Given the description of an element on the screen output the (x, y) to click on. 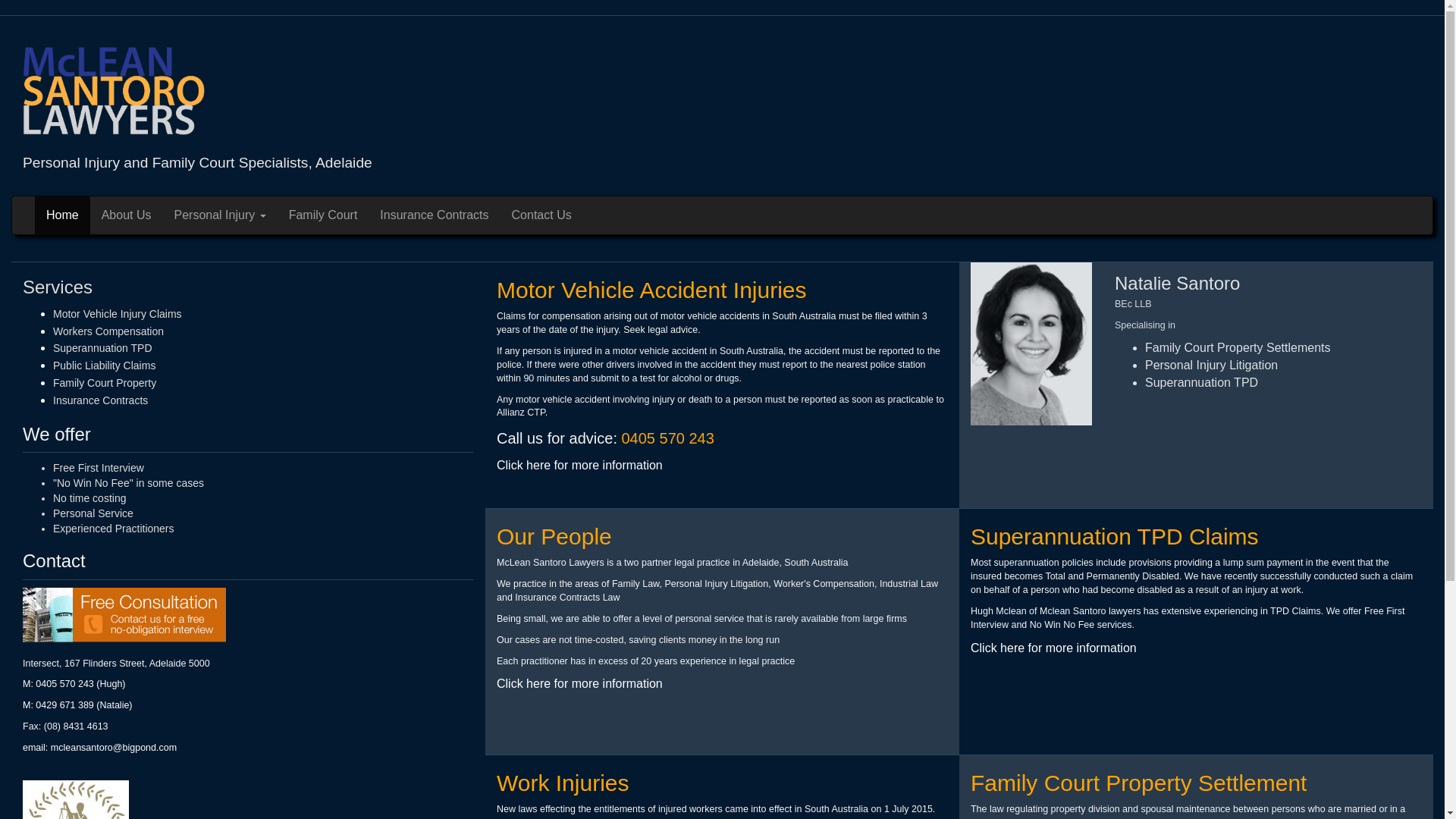
Workers Compensation Element type: text (108, 331)
Family Court Property Element type: text (104, 382)
M: 0405 570 243 (Hugh) Element type: text (73, 683)
Insurance Contracts Element type: text (100, 400)
About Us Element type: text (126, 215)
Click here for more information Element type: text (579, 464)
Family Court Element type: text (323, 215)
email: mcleansantoro@bigpond.com Element type: text (99, 747)
M: 0429 671 389 (Natalie) Element type: text (77, 704)
Click here for more information Element type: text (579, 683)
Personal Injury Element type: text (219, 215)
Contact Us Element type: text (541, 215)
Click here for more information Element type: text (1053, 647)
Motor Vehicle Injury Claims Element type: text (117, 313)
Public Liability Claims Element type: text (104, 365)
Home Element type: text (62, 215)
Superannuation TPD Element type: text (102, 348)
Insurance Contracts Element type: text (433, 215)
